Given the description of an element on the screen output the (x, y) to click on. 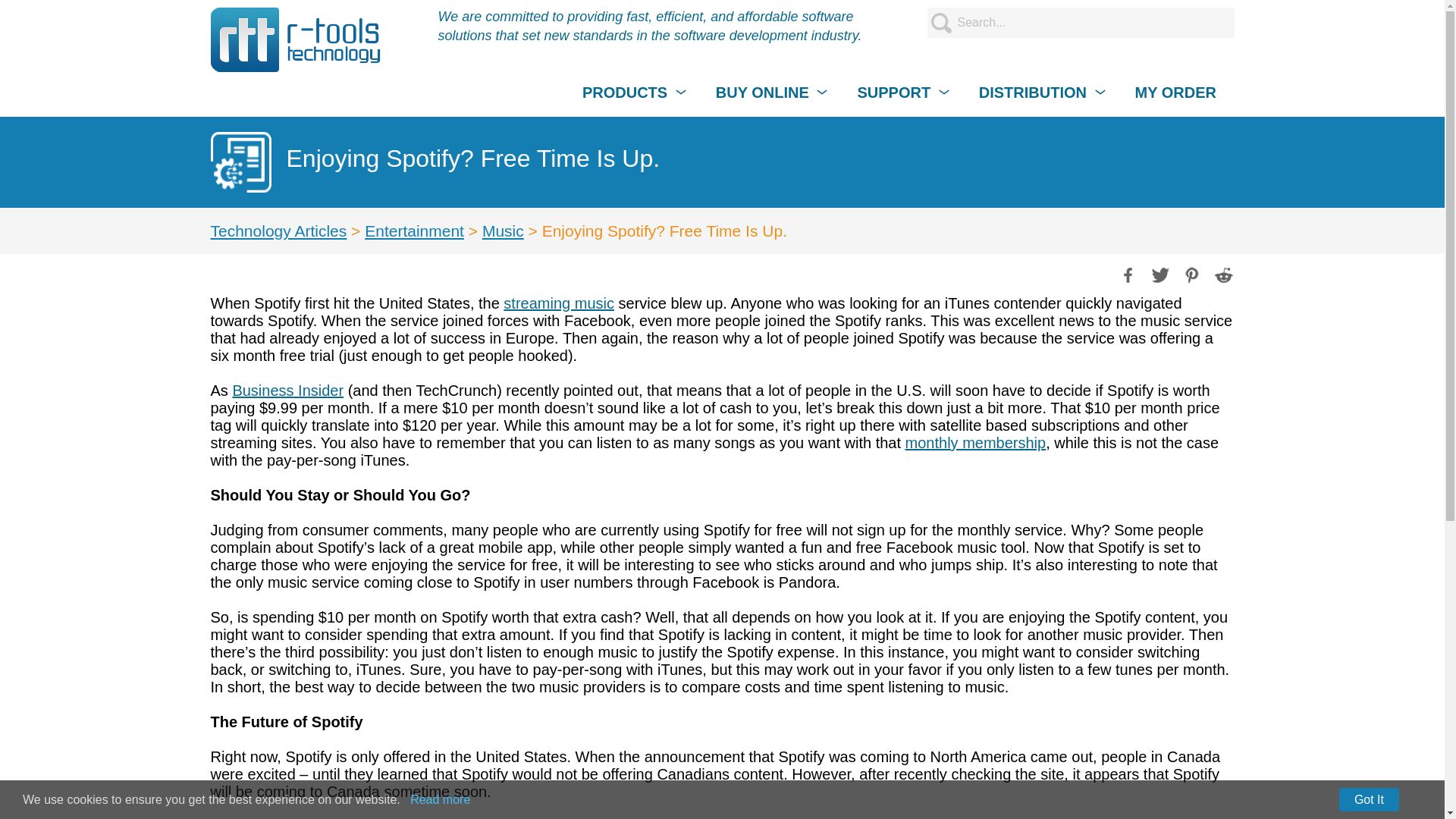
Share on Facebook (1126, 273)
Share on Twitter (1158, 273)
streaming music (558, 303)
Music (502, 230)
Share on Reddit (1221, 273)
MY ORDER (1175, 92)
Technology Articles (279, 230)
Business Insider (287, 390)
Search... (1079, 22)
monthly membership (975, 442)
